Given the description of an element on the screen output the (x, y) to click on. 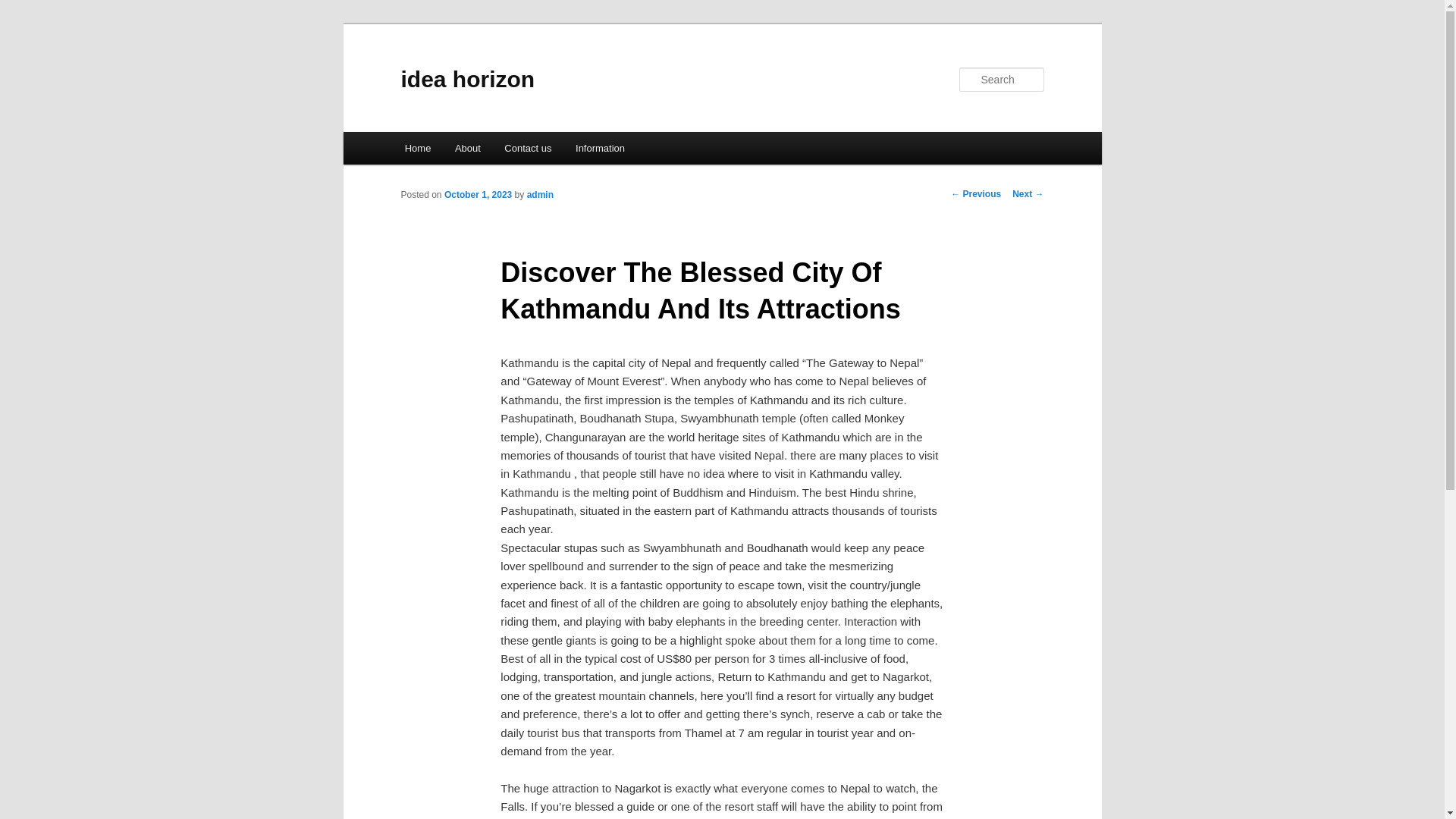
idea horizon (467, 78)
Contact us (528, 147)
About (467, 147)
1:50 pm (478, 194)
About (467, 147)
admin (540, 194)
Information (600, 147)
October 1, 2023 (478, 194)
Home (417, 147)
Search (24, 8)
Contact us (528, 147)
Home (417, 147)
Information (600, 147)
View all posts by admin (540, 194)
